Given the description of an element on the screen output the (x, y) to click on. 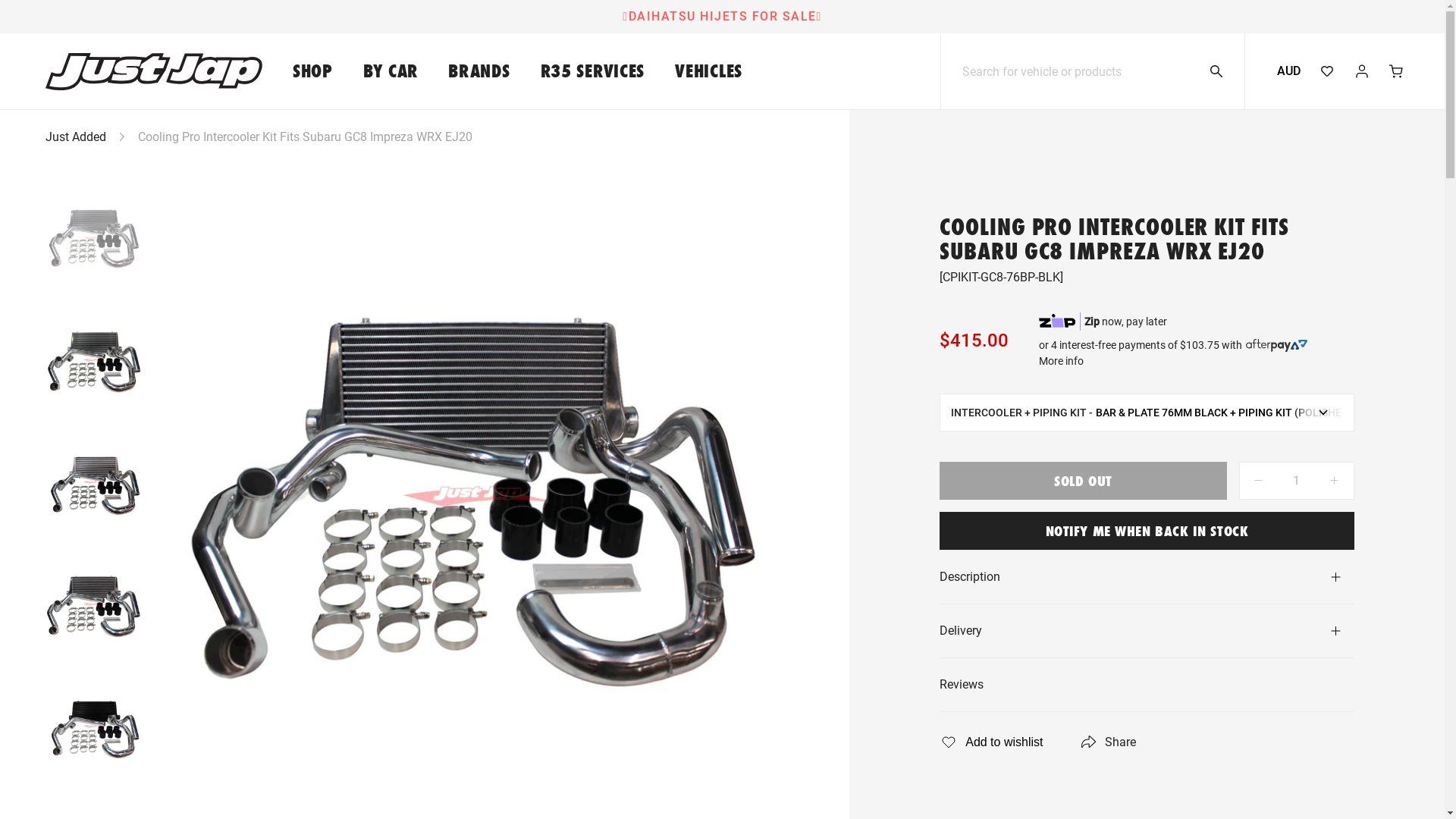
Share Element type: text (1107, 742)
BRANDS Element type: text (478, 71)
SOLD OUT Element type: text (1082, 480)
R35 SERVICES Element type: text (592, 71)
Search for products Element type: hover (1225, 71)
VEHICLES Element type: text (708, 71)
JustJap | Home Element type: hover (138, 71)
Your cart Element type: hover (1396, 71)
NOTIFY ME WHEN BACK IN STOCK Element type: text (1146, 530)
Description Element type: text (1146, 576)
Reviews Element type: text (1146, 684)
Just Added Element type: text (75, 136)
More info Element type: text (1060, 361)
BY CAR Element type: text (390, 71)
Account Element type: hover (1361, 71)
SHOP Element type: text (312, 71)
Add to wishlist Element type: text (990, 742)
